Given the description of an element on the screen output the (x, y) to click on. 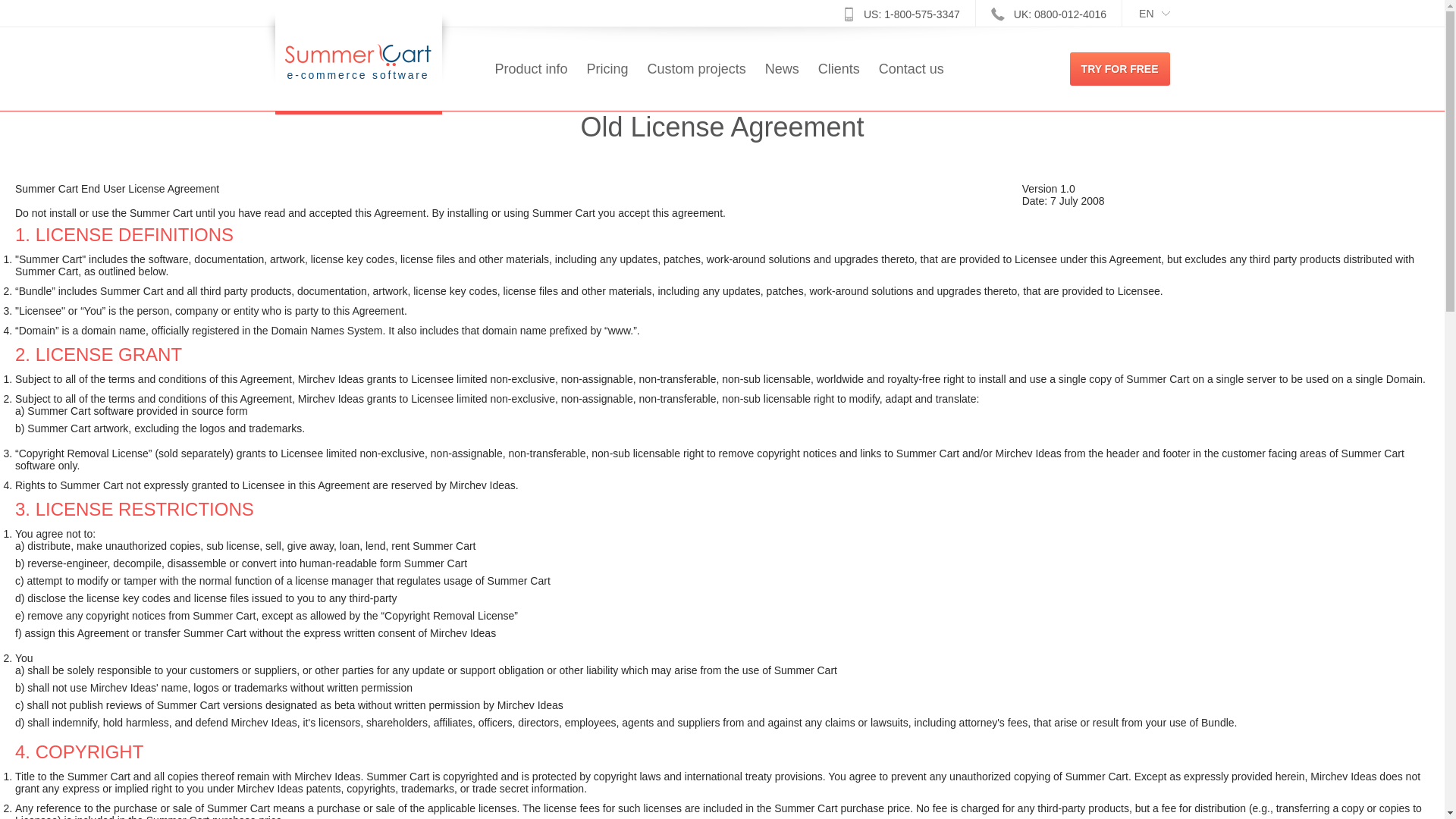
Product info (531, 84)
Custom projects (696, 84)
TRY FOR FREE (1120, 68)
Contact us (911, 84)
Custom projects (696, 84)
Product info (531, 84)
Contact us (911, 84)
